Given the description of an element on the screen output the (x, y) to click on. 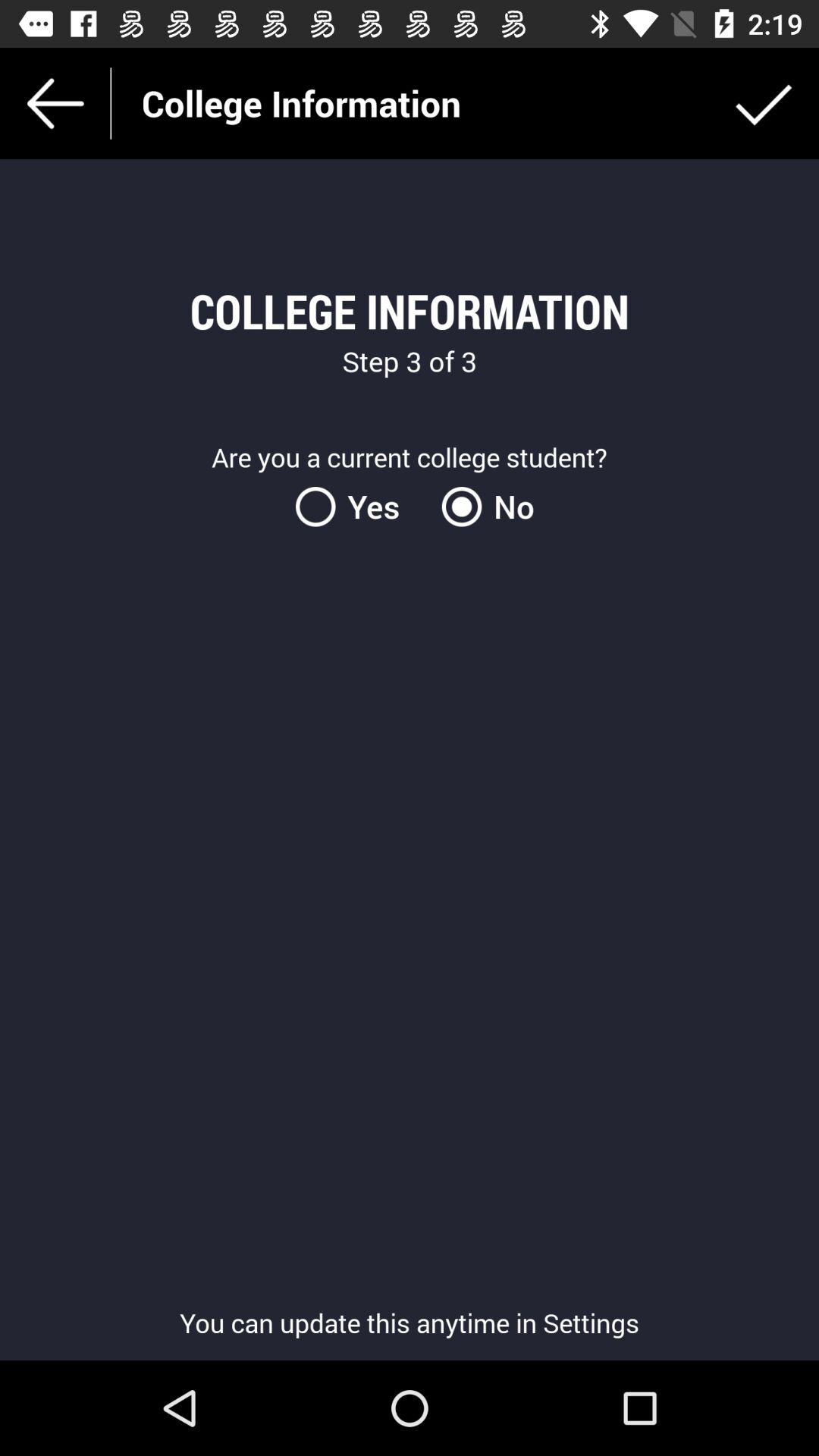
click the icon below the are you a item (481, 506)
